Given the description of an element on the screen output the (x, y) to click on. 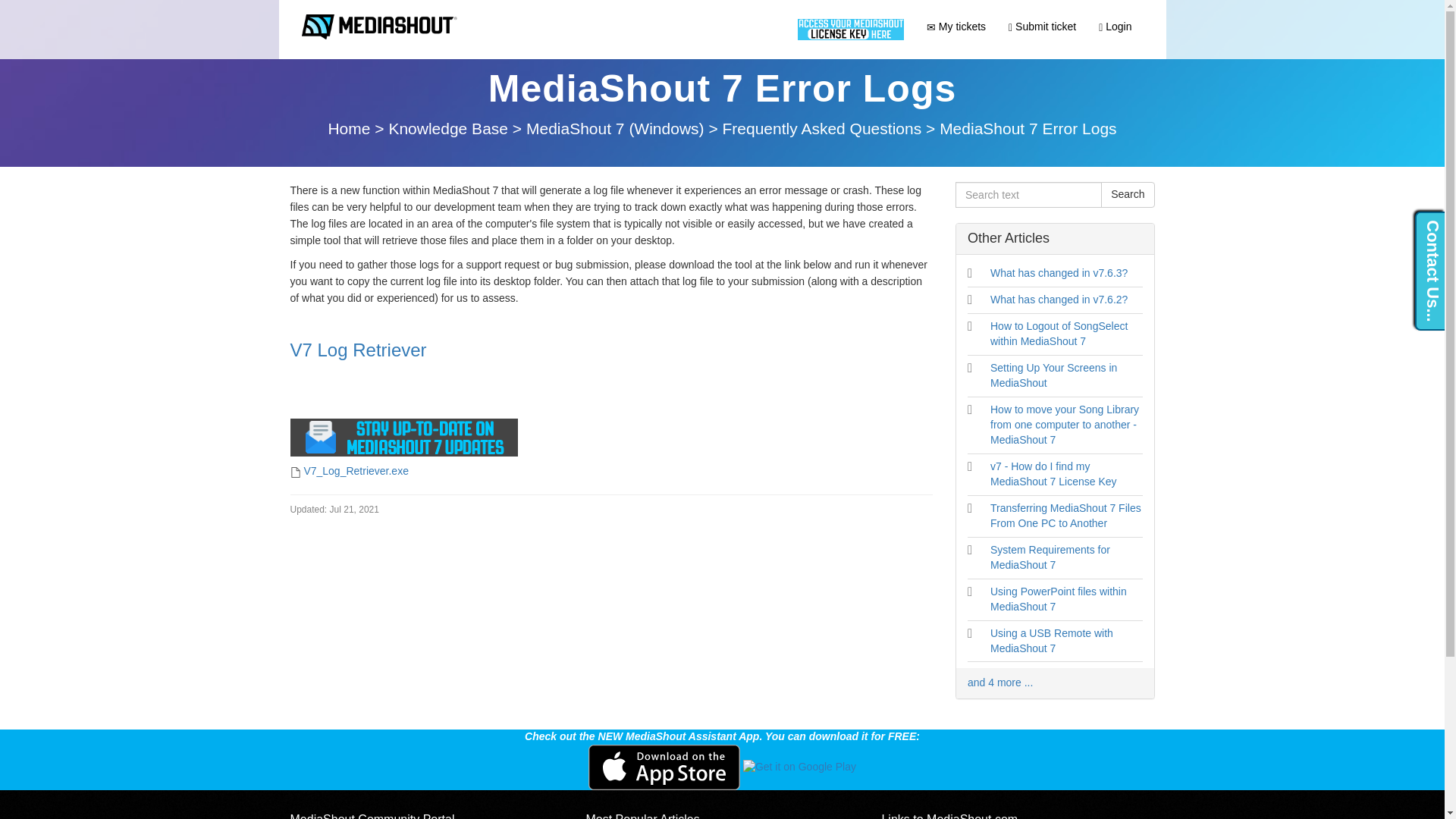
Setting Up Your Screens in MediaShout (1053, 375)
How to Logout of SongSelect within MediaShout 7 (1058, 333)
and 4 more ... (1000, 682)
Using a USB Remote with MediaShout 7 (1051, 640)
Using a USB Remote with MediaShout 7 (1051, 640)
What has changed in v7.6.2? (1058, 299)
Login (1114, 26)
Using PowerPoint files within MediaShout 7 (1058, 598)
Search (1127, 194)
System Requirements for MediaShout 7 (1049, 556)
Using PowerPoint files within MediaShout 7 (1058, 598)
Search (1127, 194)
How to Logout of SongSelect within MediaShout 7 (1058, 333)
Search text (1028, 194)
